Given the description of an element on the screen output the (x, y) to click on. 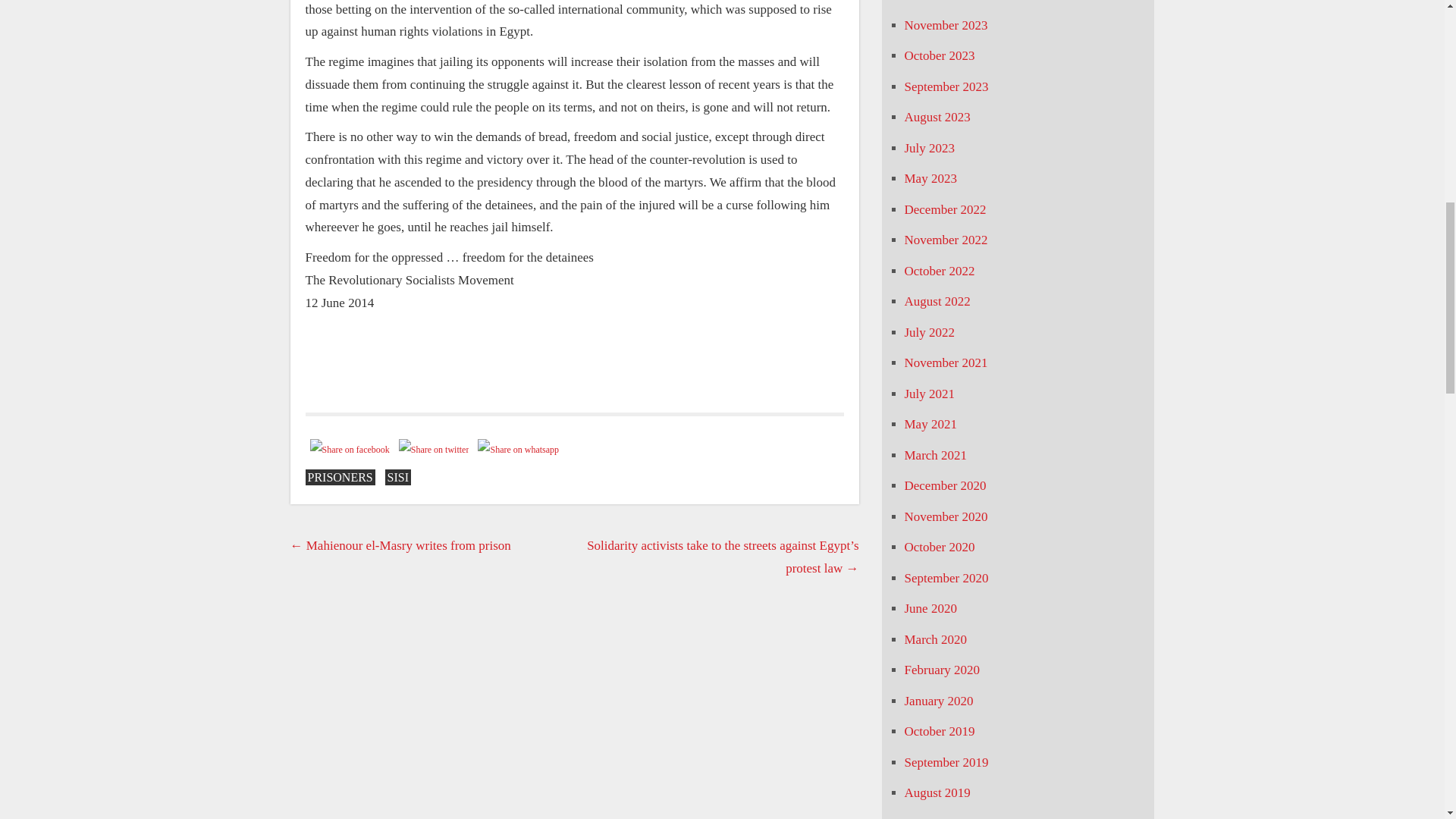
twitter (434, 450)
August 2023 (936, 116)
PRISONERS (339, 477)
whatsapp (518, 450)
facebook (348, 450)
September 2023 (946, 85)
October 2023 (939, 55)
SISI (397, 477)
July 2023 (929, 147)
May 2023 (930, 178)
December 2023 (944, 0)
November 2023 (945, 25)
